Given the description of an element on the screen output the (x, y) to click on. 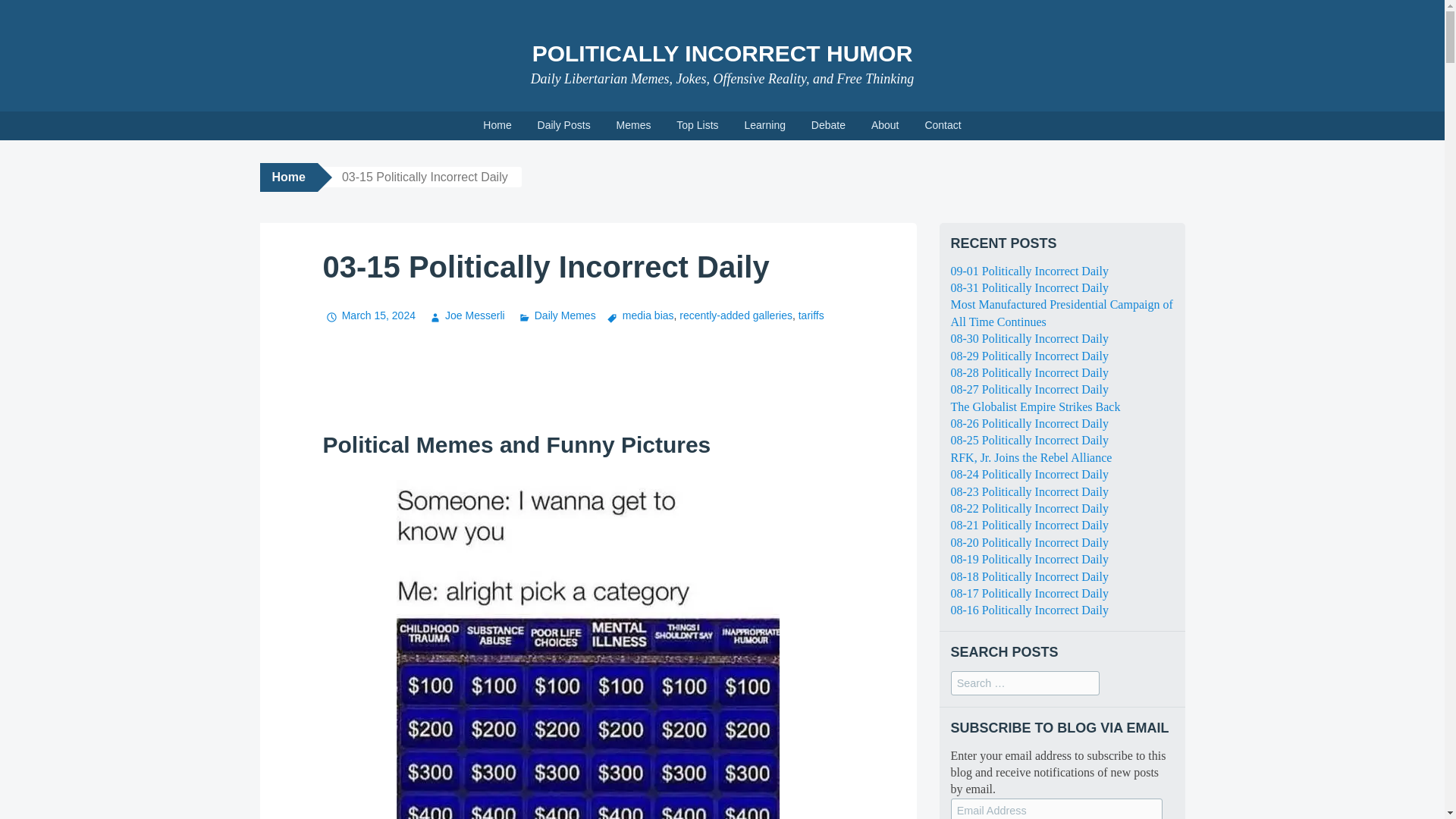
Daily Memes (555, 315)
Top Lists (697, 125)
Home (496, 125)
Debate (828, 125)
recently-added galleries (735, 315)
March 15, 2024 (368, 315)
media bias (639, 315)
Skip to content (10, 117)
Daily Posts (563, 125)
Home (288, 176)
